Given the description of an element on the screen output the (x, y) to click on. 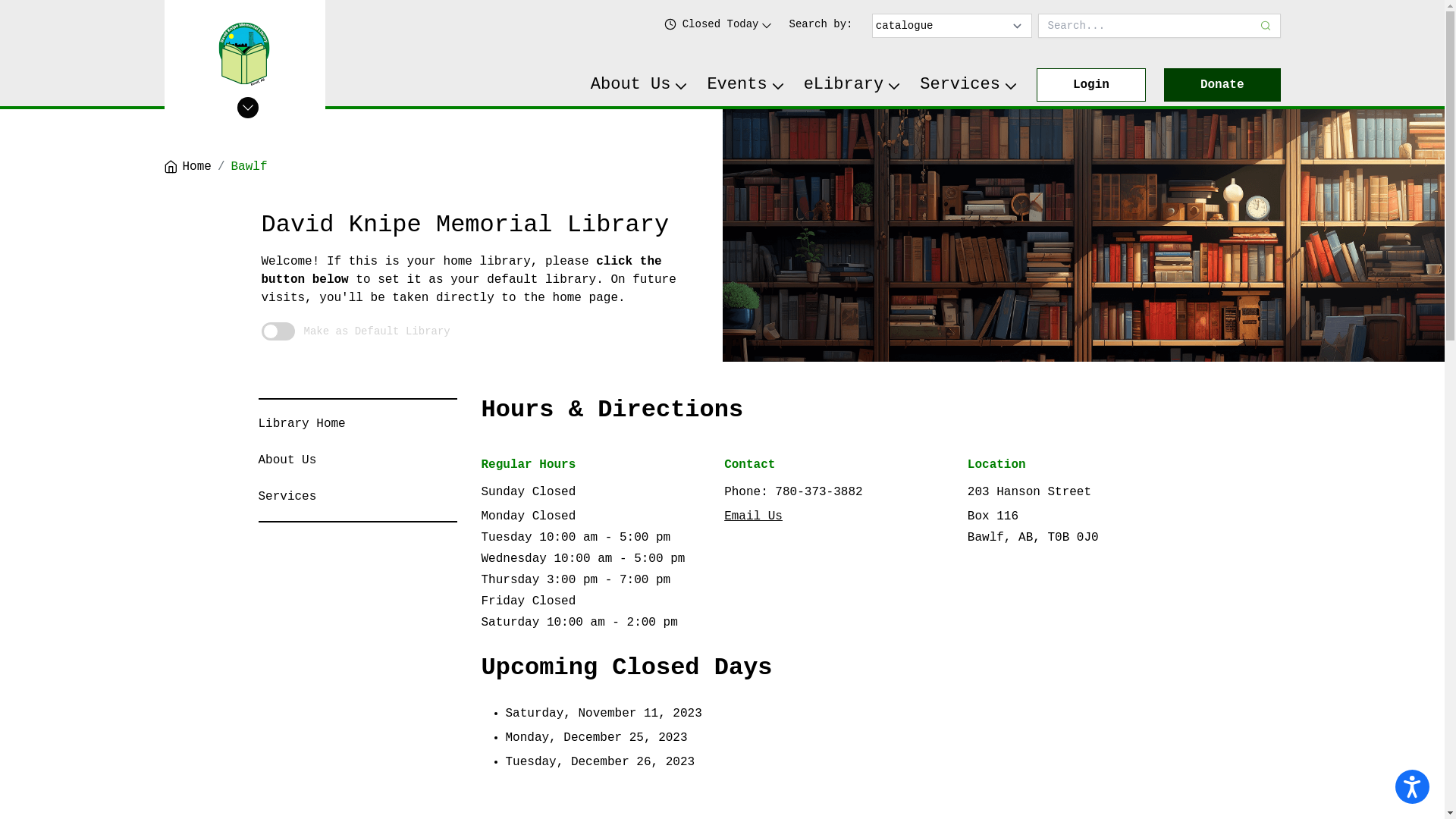
Services Element type: text (286, 496)
About Us Element type: text (286, 460)
Login Element type: text (1090, 84)
eLibrary Element type: text (852, 84)
Library Home Element type: text (301, 423)
Events Element type: text (745, 84)
Email Us Element type: text (753, 516)
Donate Element type: text (1222, 84)
Bawlf Element type: text (249, 166)
Services Element type: text (968, 84)
Home Element type: text (186, 166)
About Us Element type: text (639, 84)
